Given the description of an element on the screen output the (x, y) to click on. 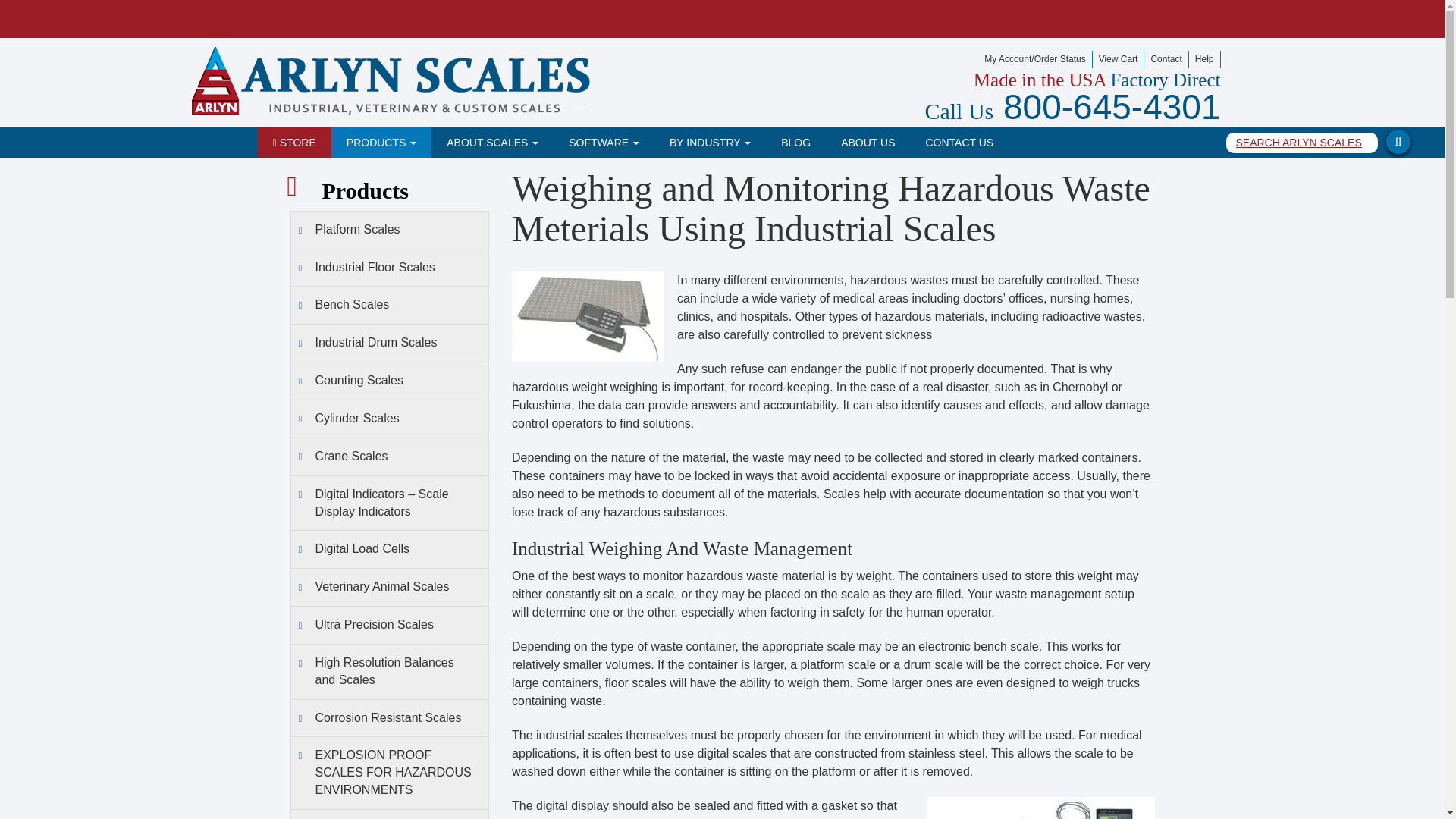
PRODUCTS (380, 142)
Call Us 800-645-4301 (1072, 106)
View Cart (1118, 58)
ABOUT SCALES (491, 142)
Help (1205, 58)
STORE (294, 142)
Contact (1166, 58)
